Given the description of an element on the screen output the (x, y) to click on. 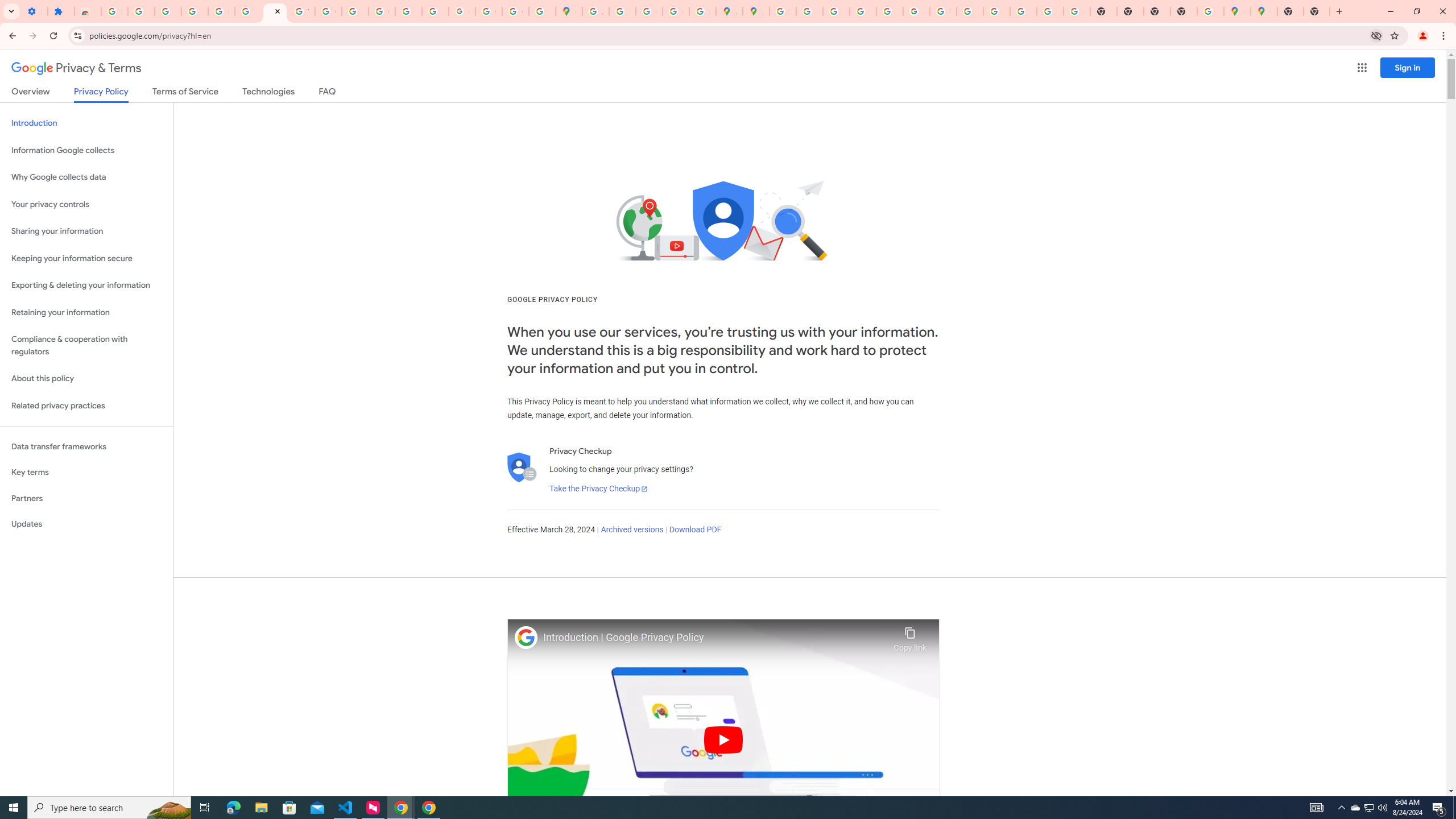
Settings - On startup (34, 11)
YouTube (943, 11)
New Tab (1183, 11)
Privacy Help Center - Policies Help (836, 11)
Photo image of Google (526, 636)
Delete photos & videos - Computer - Google Photos Help (141, 11)
